Given the description of an element on the screen output the (x, y) to click on. 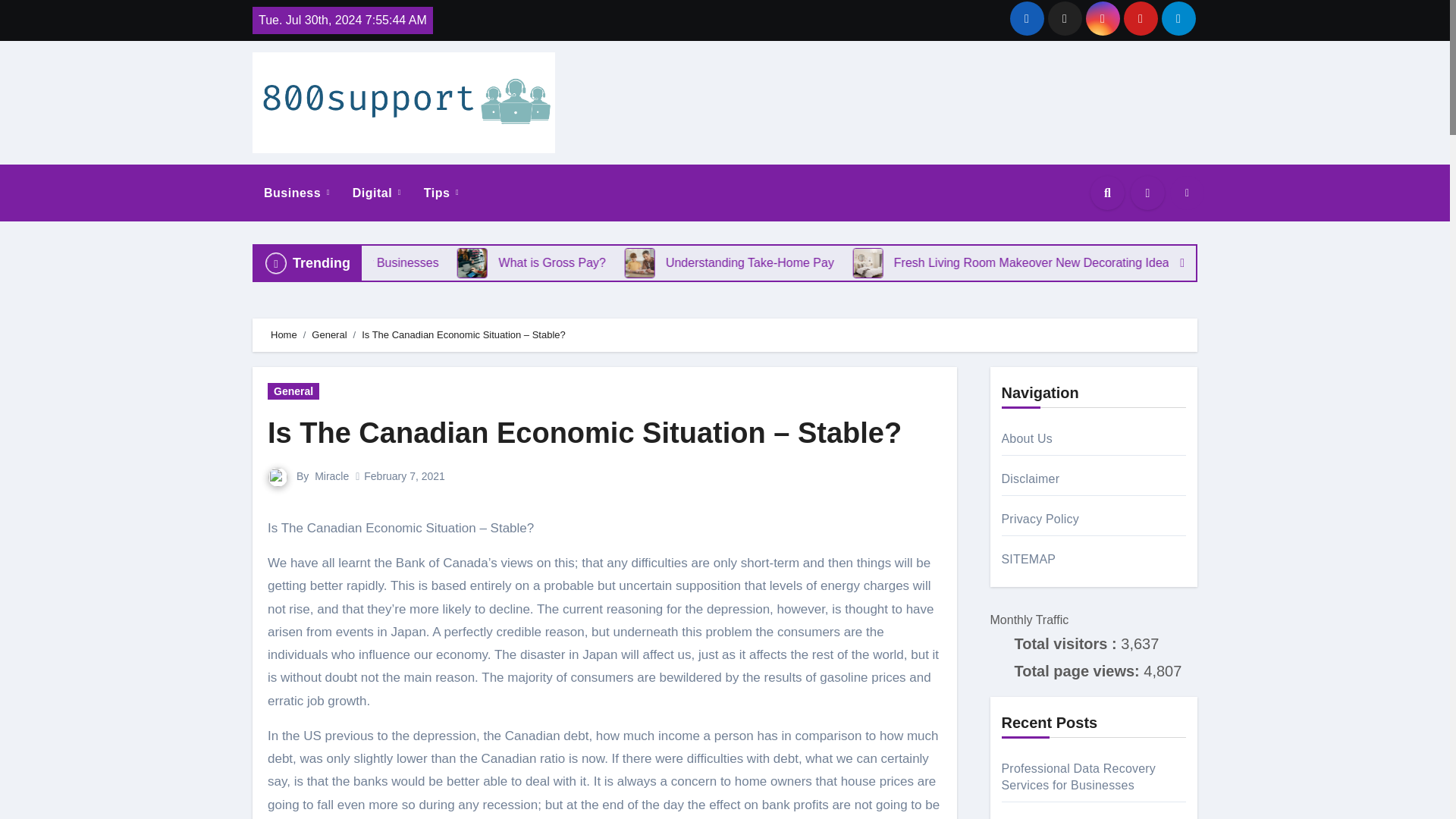
Fresh Living Room Makeover New Decorating Ideas Unveiled (1106, 262)
Fresh Living Room Makeover New Decorating Ideas Unveiled (1136, 262)
General (328, 334)
General (292, 391)
Business (295, 193)
Home (283, 334)
Digital (376, 193)
Digital (376, 193)
Understanding Take-Home Pay (799, 262)
What is Gross Pay? (542, 263)
Understanding Take-Home Pay (829, 262)
Tips (441, 193)
Business (295, 193)
Tips (441, 193)
Understanding Take-Home Pay (706, 263)
